Given the description of an element on the screen output the (x, y) to click on. 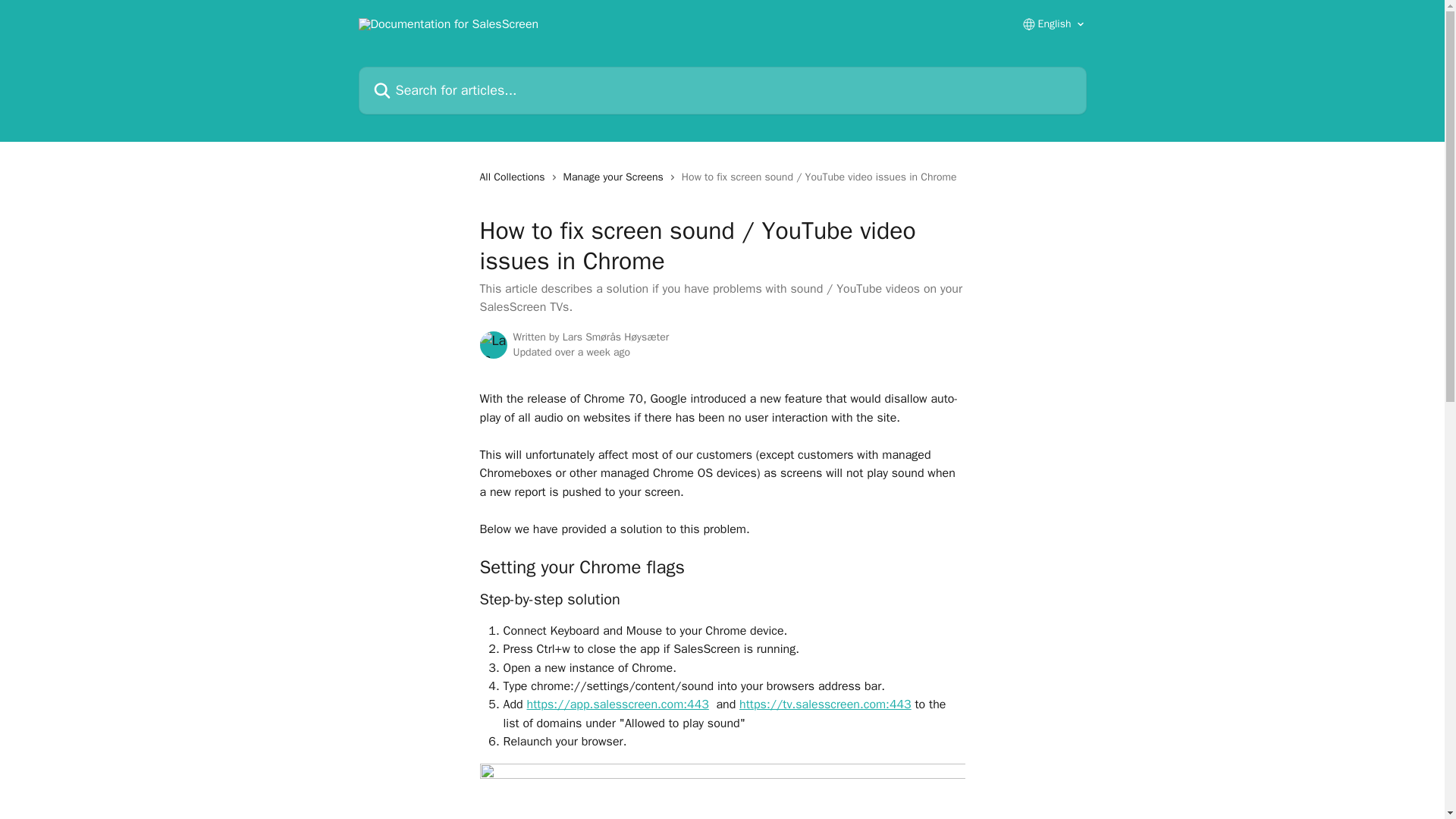
Manage your Screens (616, 176)
All Collections (514, 176)
